Given the description of an element on the screen output the (x, y) to click on. 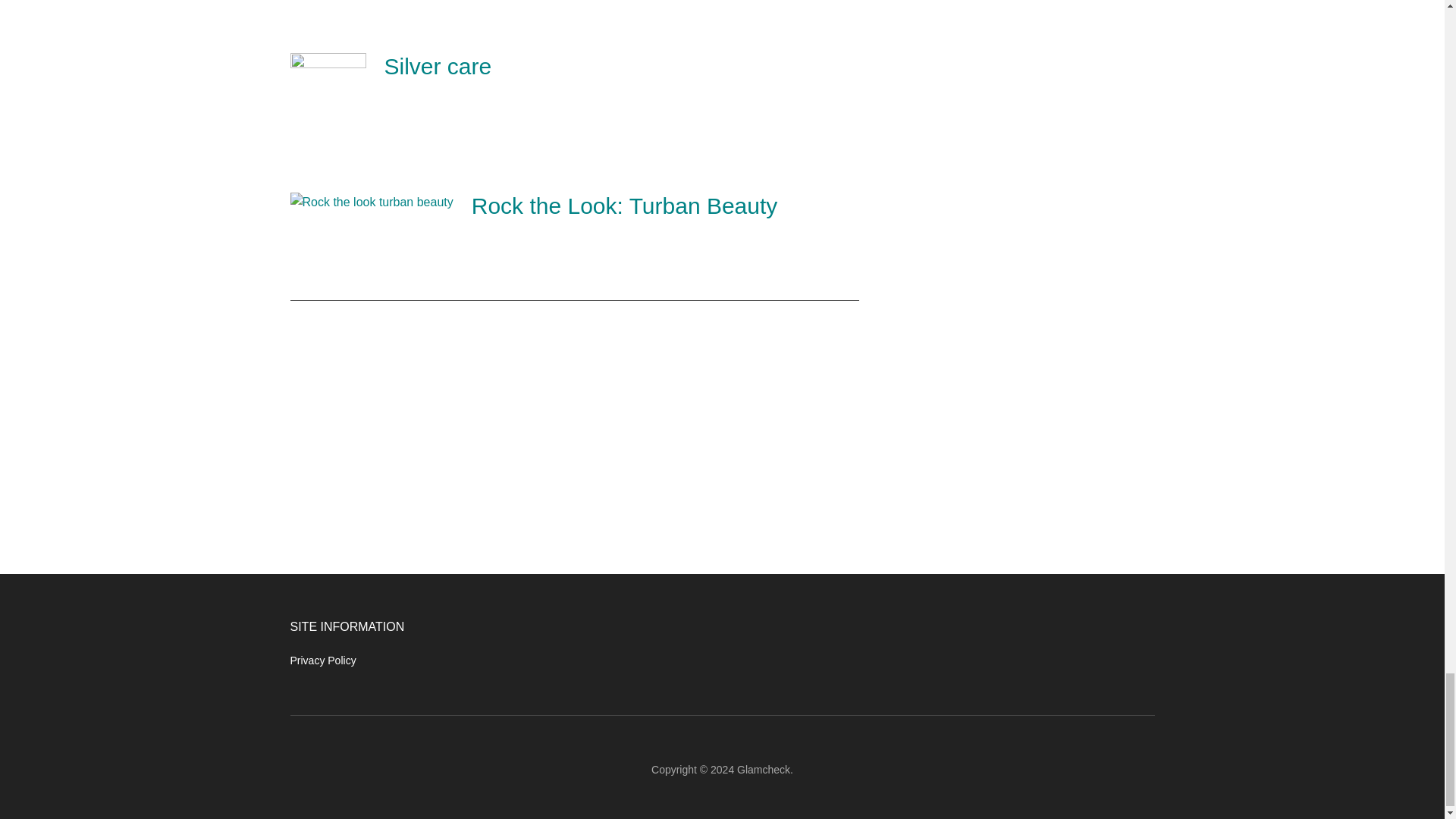
Rock the Look: Turban Beauty (624, 205)
Silver care (438, 66)
